Given the description of an element on the screen output the (x, y) to click on. 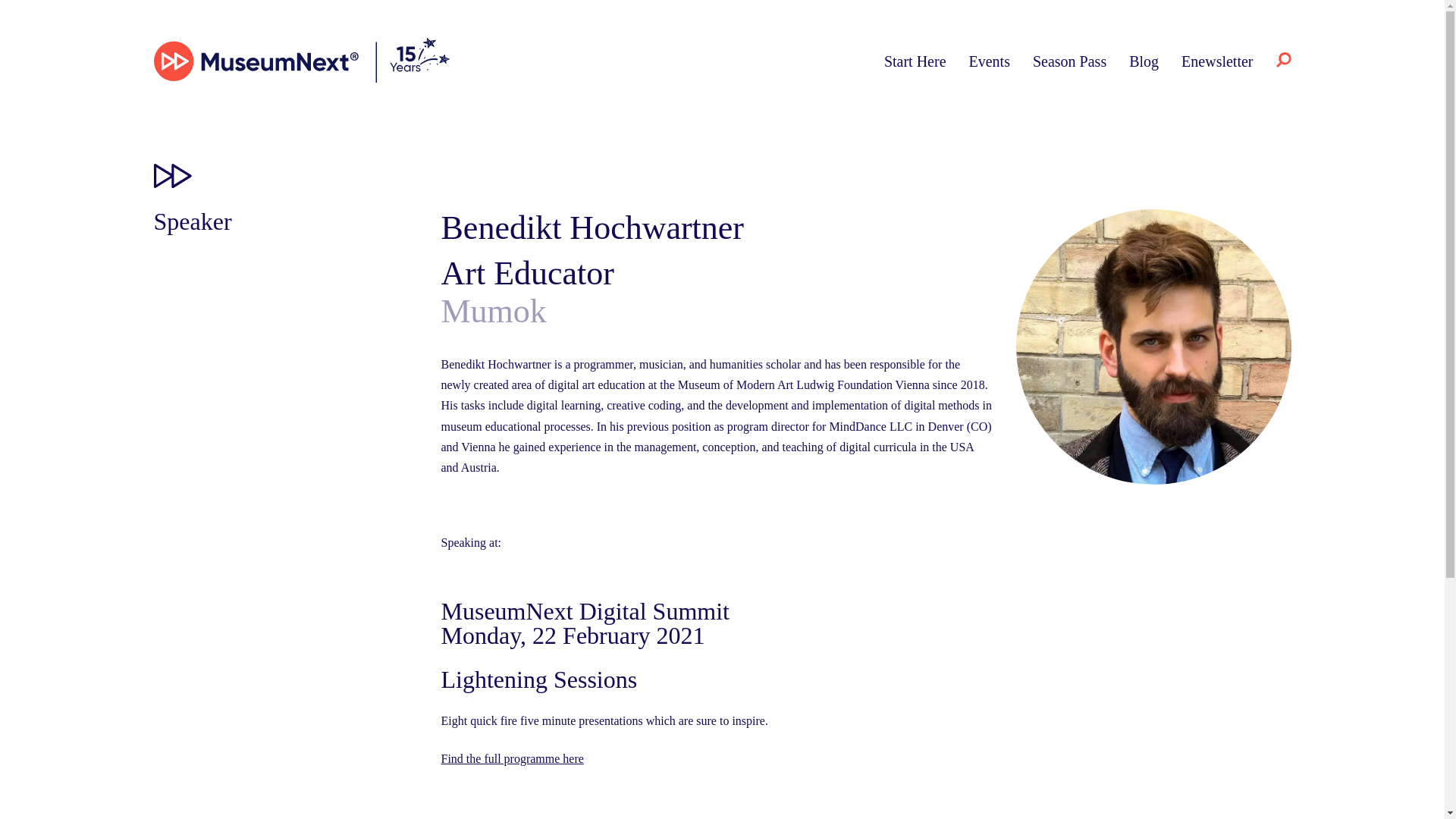
Season Pass (1069, 61)
Start Here (914, 61)
Find the full programme here (512, 758)
Enewsletter (1216, 61)
Blog (1143, 61)
Events (989, 61)
